Given the description of an element on the screen output the (x, y) to click on. 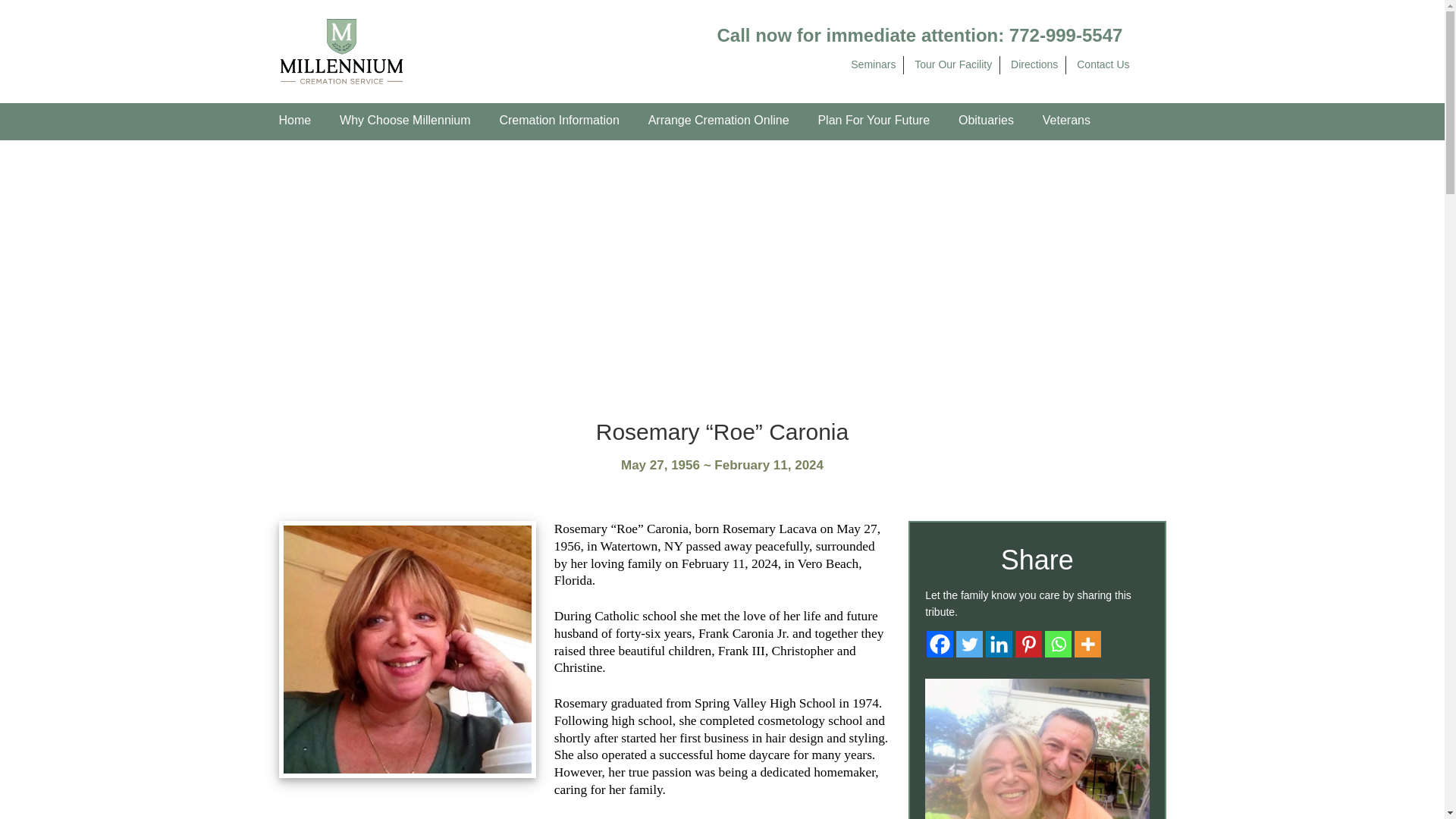
More (1087, 643)
Contact Us (1103, 64)
Facebook (939, 643)
Millennium Cremation Service (341, 50)
Tour Our Facility (952, 64)
Seminars (872, 64)
Veterans (1066, 121)
Obituaries (985, 121)
Twitter (969, 643)
Directions (1034, 64)
